Given the description of an element on the screen output the (x, y) to click on. 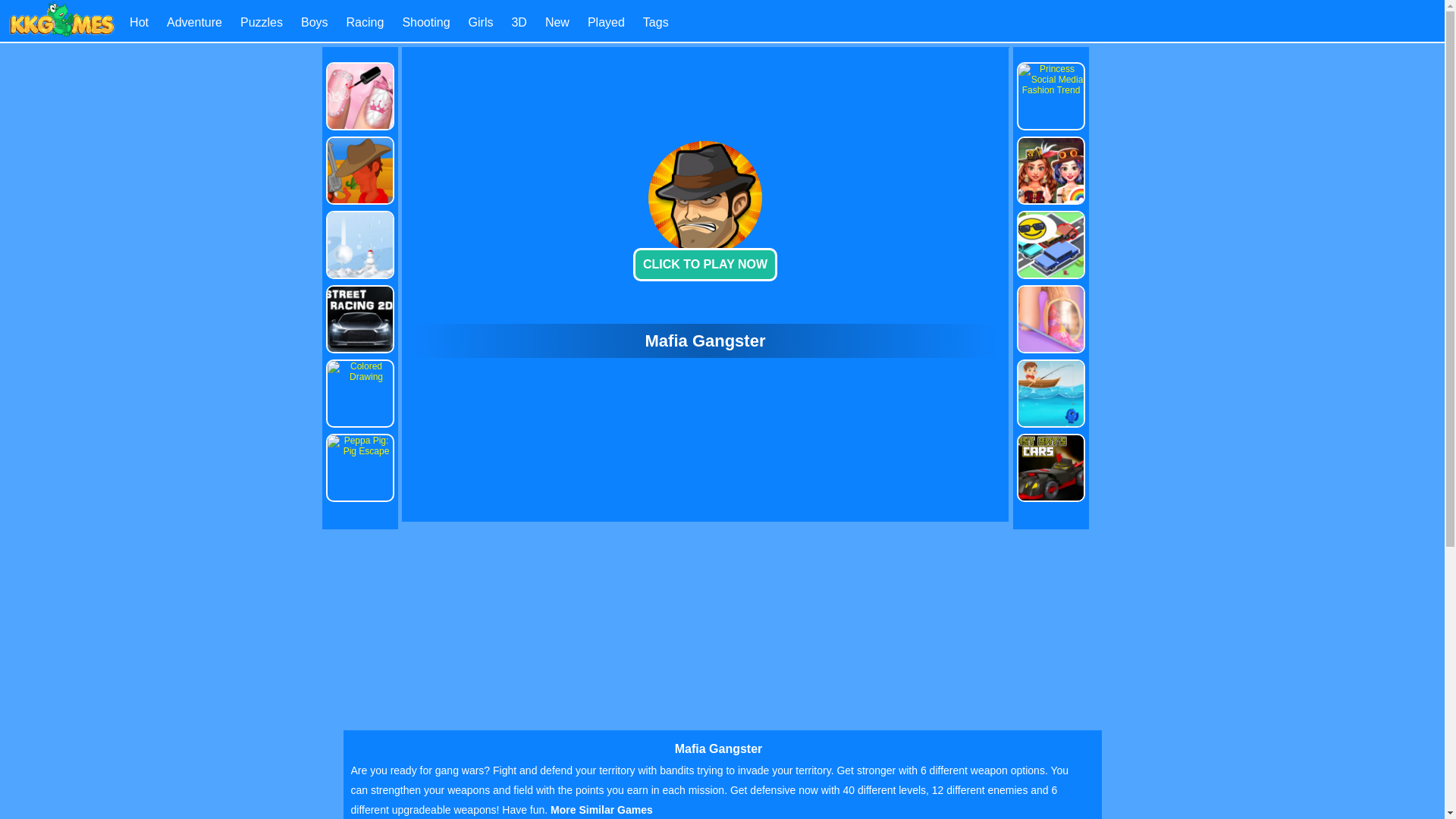
3D (518, 21)
New (556, 21)
More Similar Games (601, 809)
Racing (365, 21)
CLICK TO PLAY NOW (705, 207)
Puzzles (261, 21)
Shooting (425, 21)
Girls (480, 21)
Boys (315, 21)
CLICK TO PLAY NOW (705, 264)
Adventure (194, 21)
Tags (655, 21)
Played (606, 21)
Hot (138, 21)
